Given the description of an element on the screen output the (x, y) to click on. 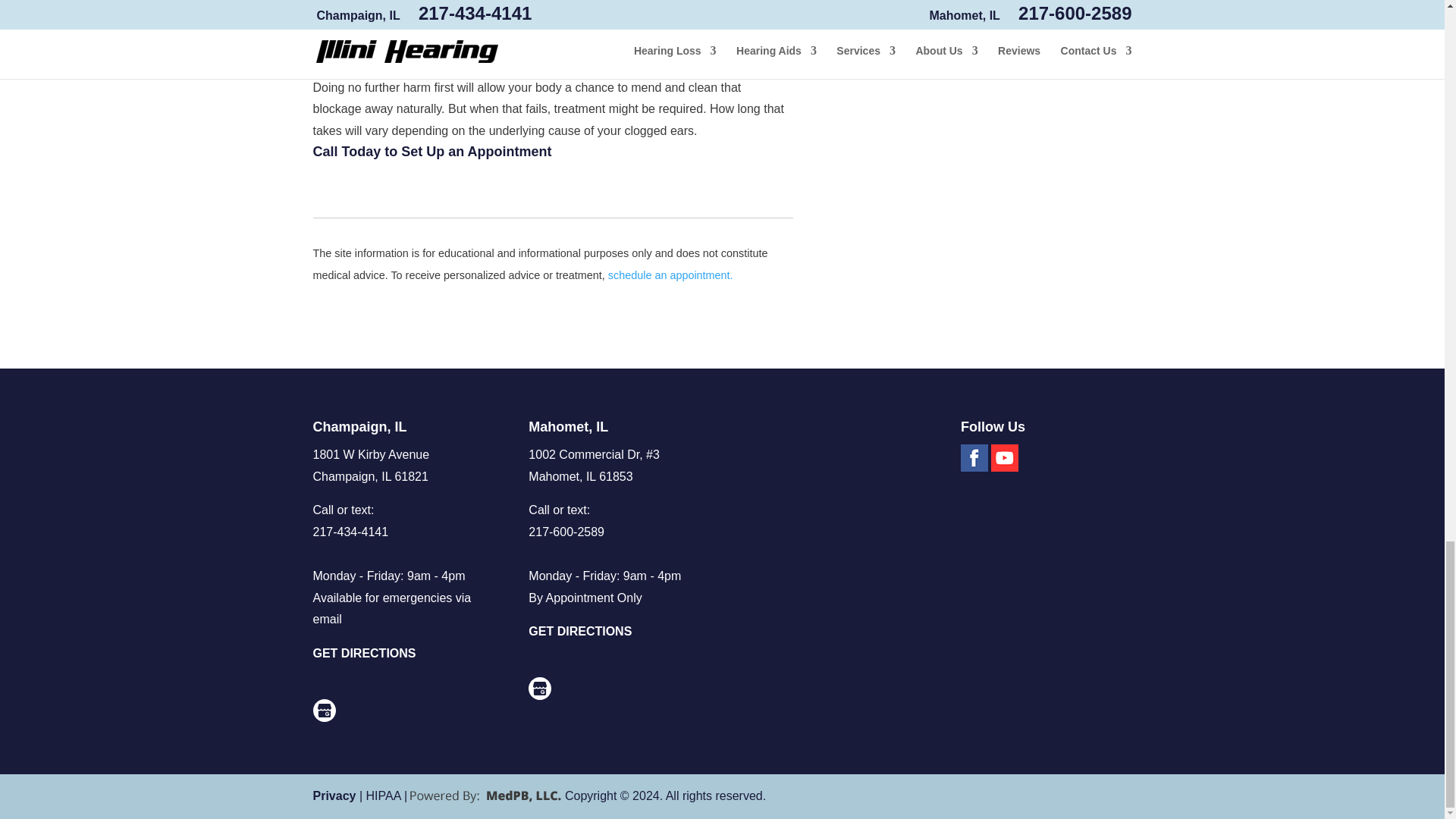
Call Today to Set Up an Appointment (432, 151)
Champaign, IL (359, 426)
MedPB: Medical Practice Building, Marketing, Websites (485, 795)
schedule an appointment. (670, 275)
